Given the description of an element on the screen output the (x, y) to click on. 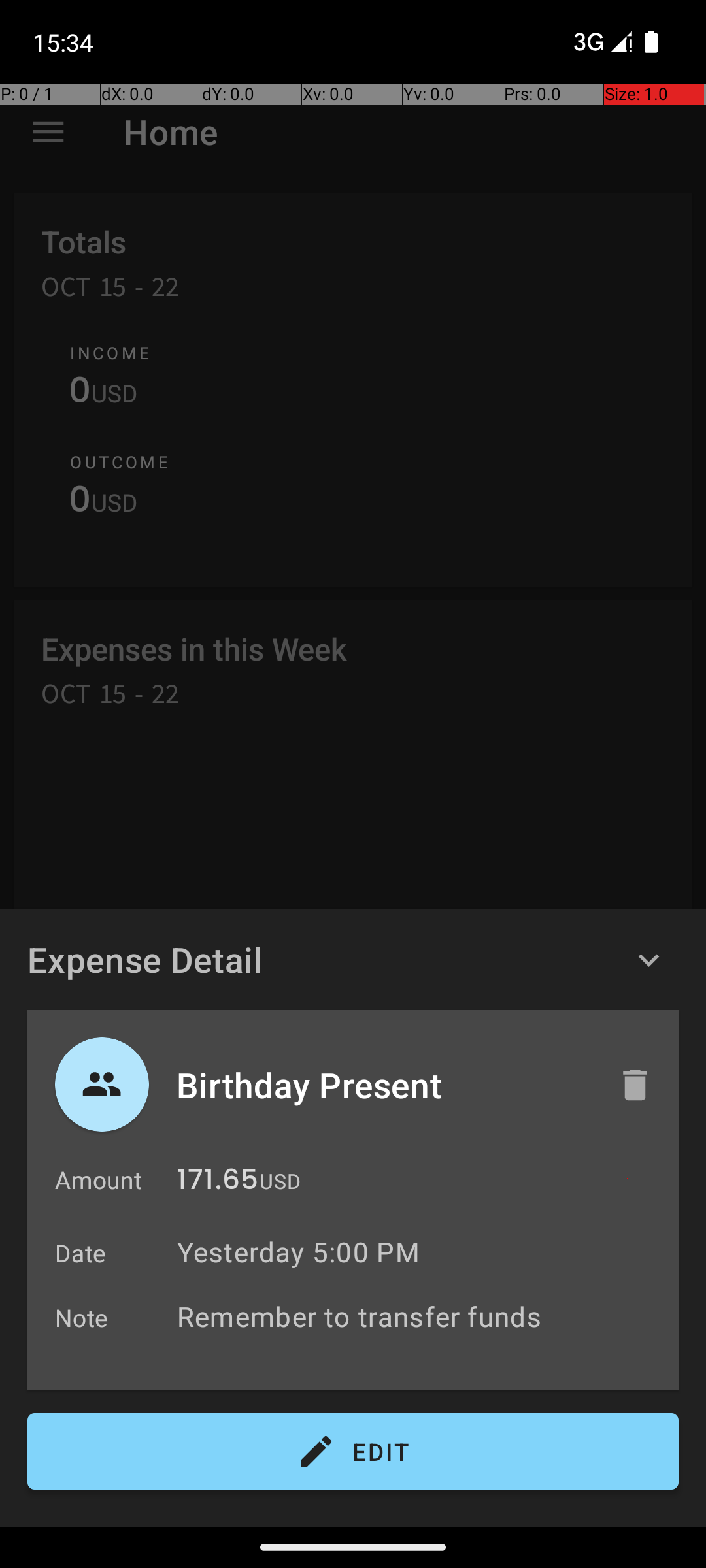
Birthday Present Element type: android.widget.TextView (383, 1084)
171.65 Element type: android.widget.TextView (217, 1182)
Yesterday 5:00 PM Element type: android.widget.TextView (298, 1251)
Remember to transfer funds Element type: android.widget.TextView (420, 1315)
